Given the description of an element on the screen output the (x, y) to click on. 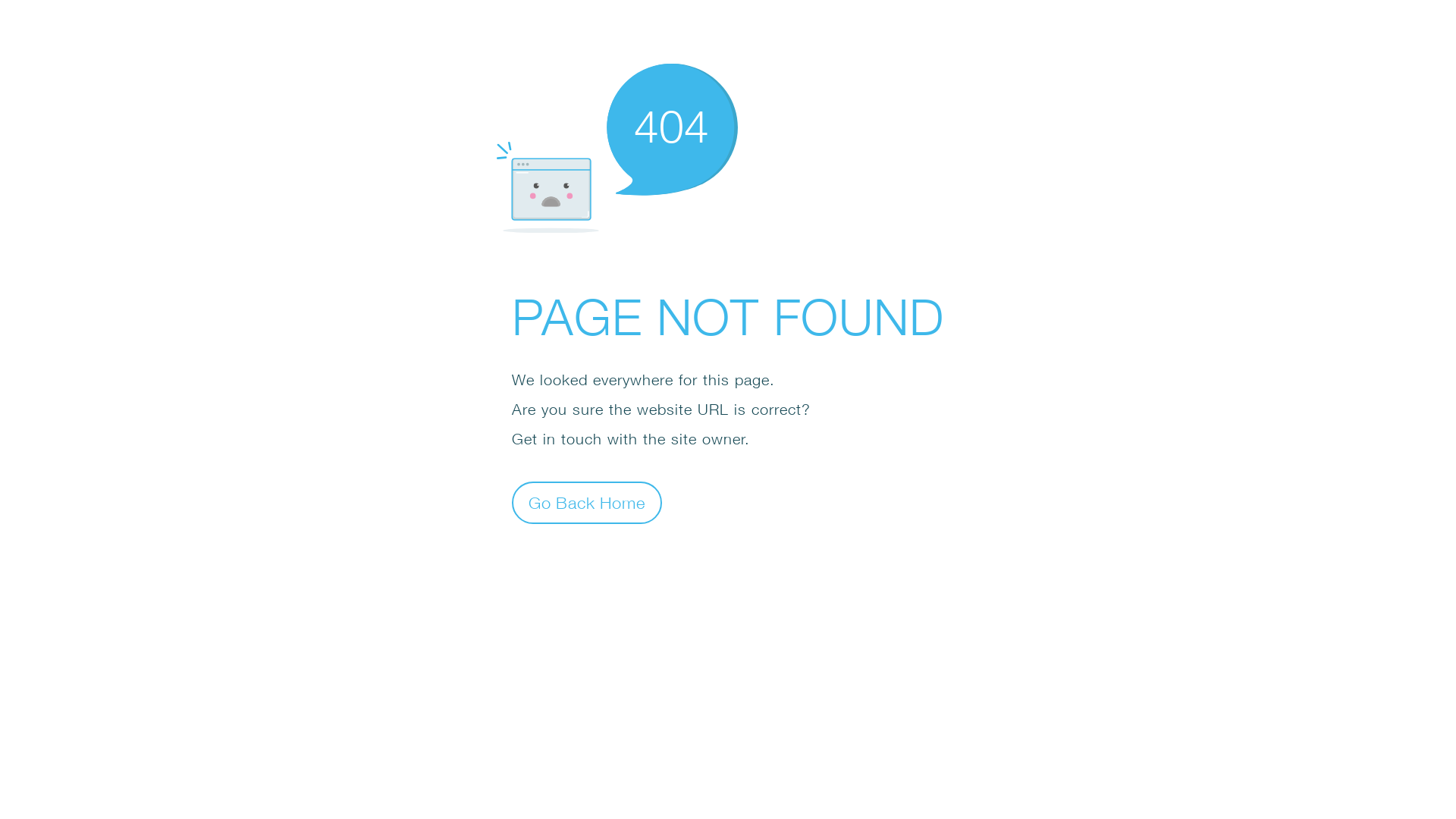
Go Back Home Element type: text (586, 502)
